Given the description of an element on the screen output the (x, y) to click on. 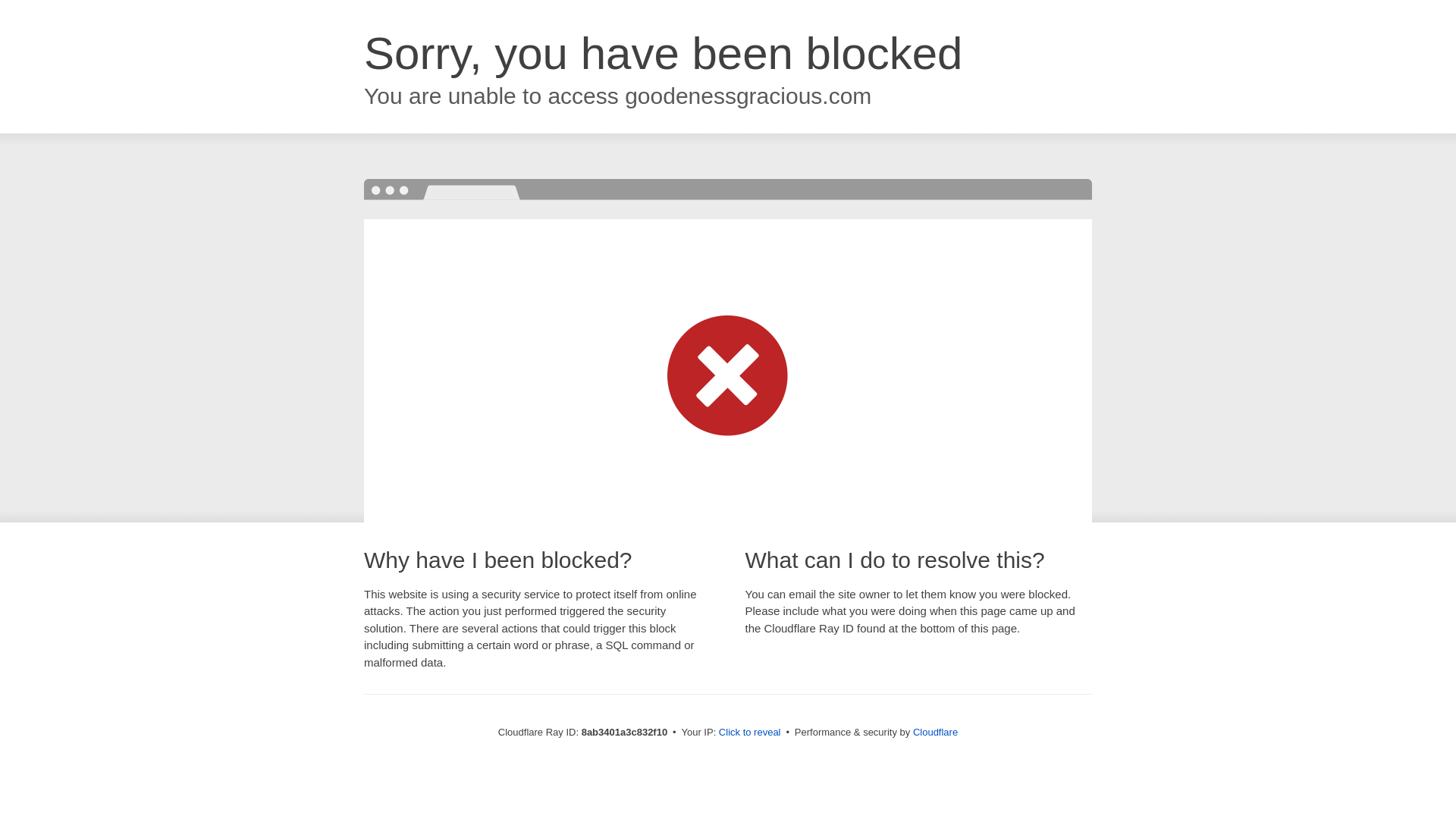
Cloudflare (935, 731)
Click to reveal (749, 732)
